Given the description of an element on the screen output the (x, y) to click on. 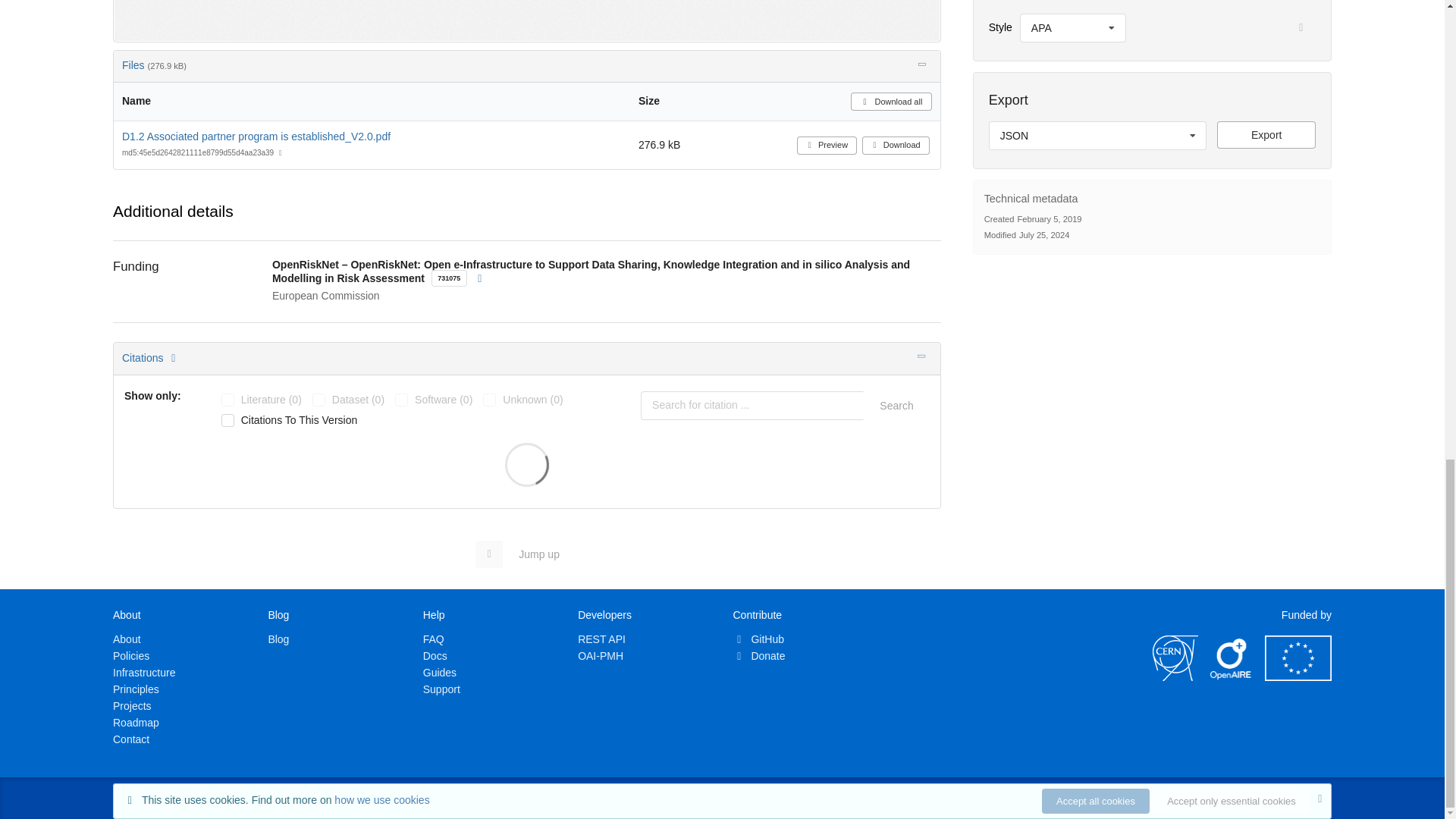
Projects (132, 705)
Jump up (525, 554)
Export (1266, 134)
About (127, 639)
Preview (826, 145)
Policies (131, 655)
Download (895, 145)
Preview (527, 20)
Infrastructure (143, 672)
Search (895, 405)
